Given the description of an element on the screen output the (x, y) to click on. 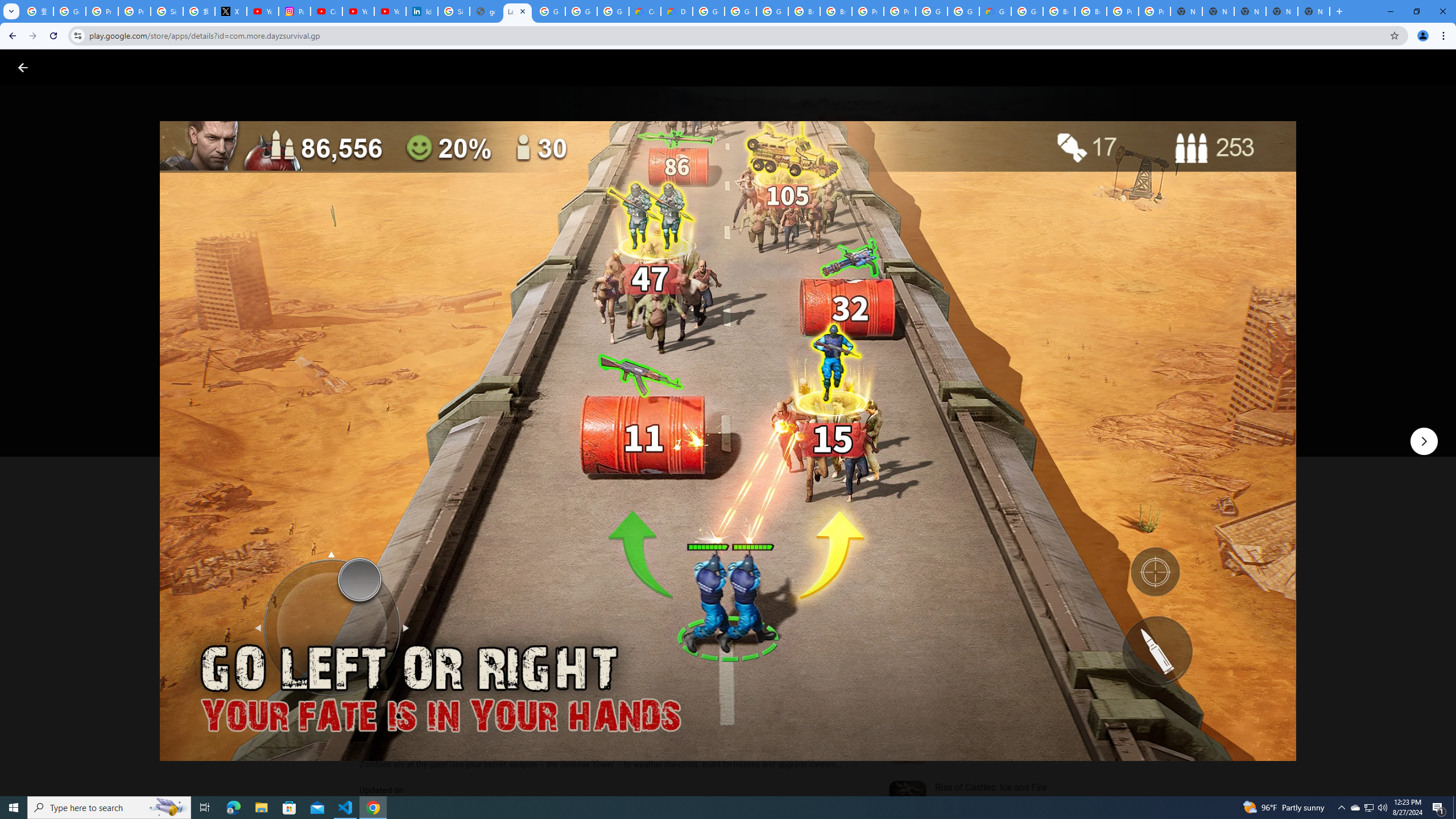
Google Cloud Platform (1027, 11)
Long Tech Network Limited (417, 342)
Last Shelter: Survival - Apps on Google Play (517, 11)
Sign in - Google Accounts (166, 11)
Google Cloud Platform (931, 11)
See more information on Similar games (986, 539)
Google Cloud Platform (708, 11)
Scroll Next (848, 563)
Sign in - Google Accounts (453, 11)
